Given the description of an element on the screen output the (x, y) to click on. 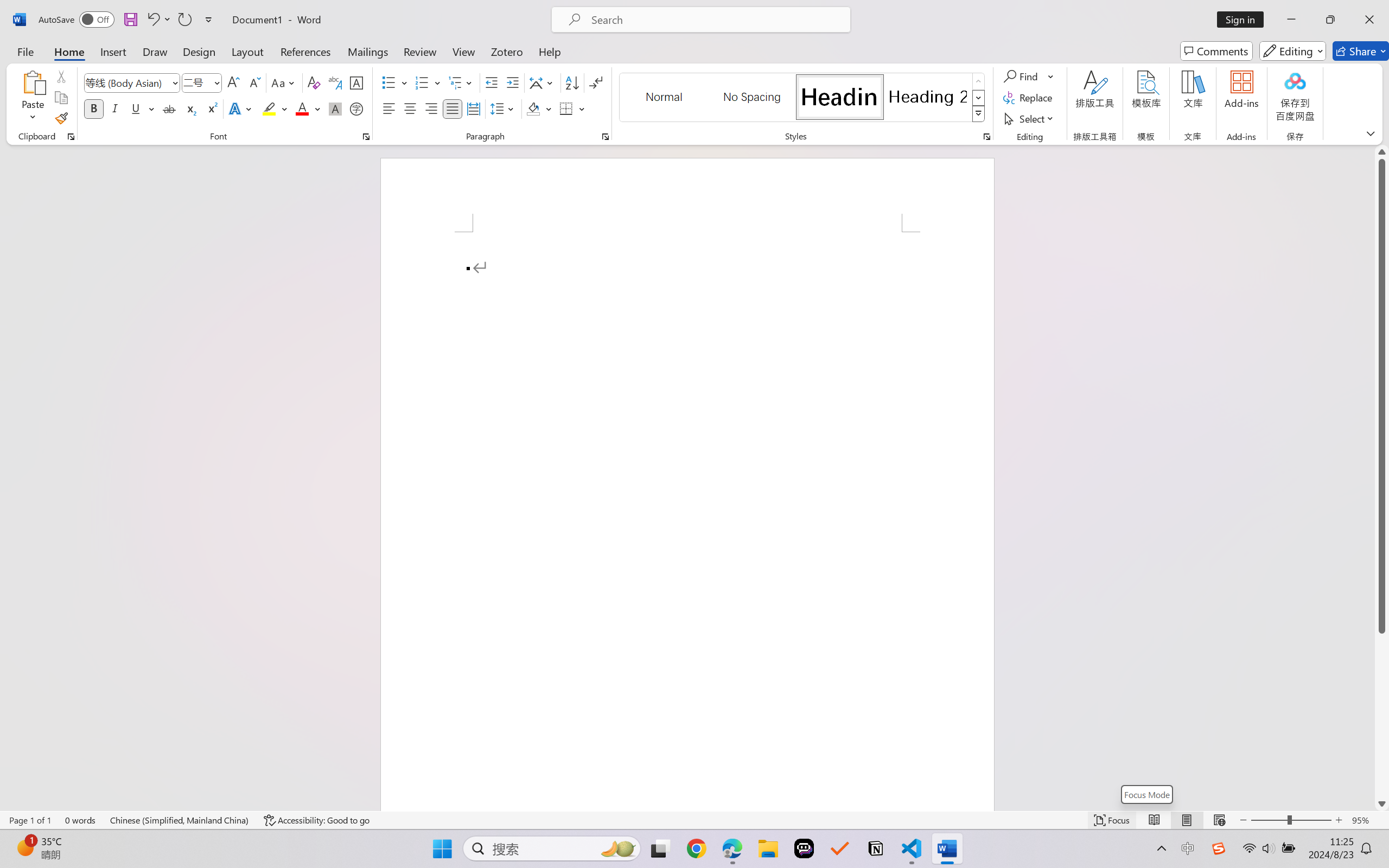
Page down (1382, 714)
